Given the description of an element on the screen output the (x, y) to click on. 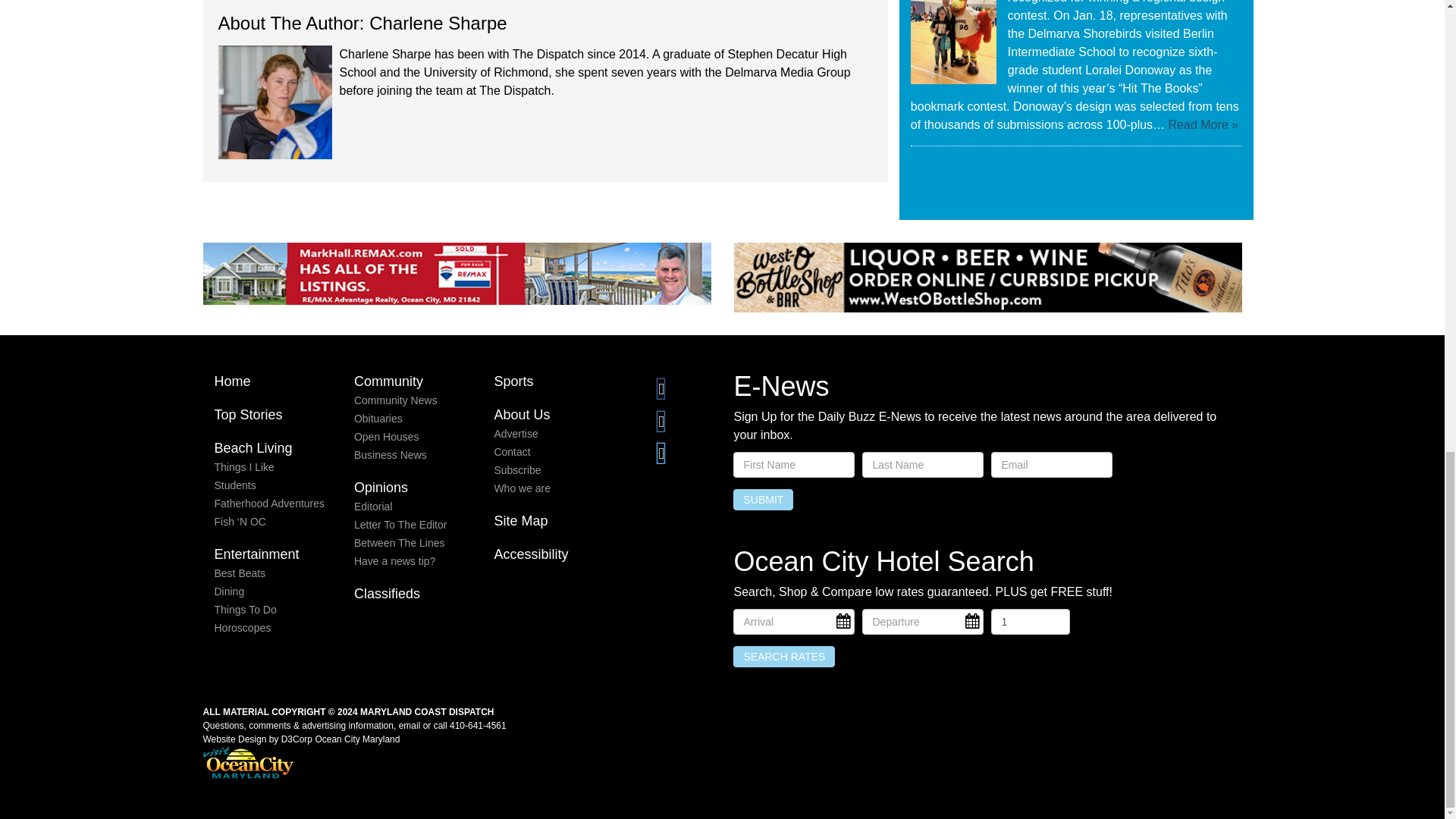
1 (1029, 621)
